Given the description of an element on the screen output the (x, y) to click on. 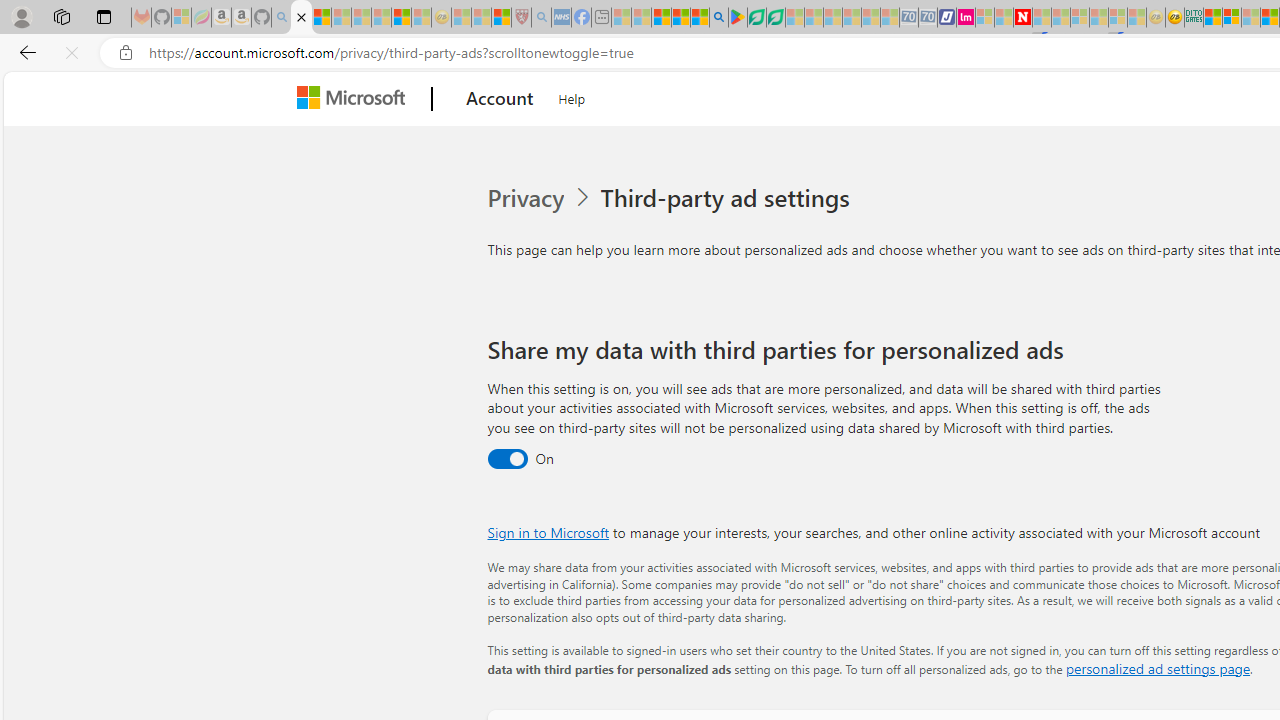
Third party data sharing toggle (506, 459)
Microsoft Word - consumer-privacy address update 2.2021 (775, 17)
